Given the description of an element on the screen output the (x, y) to click on. 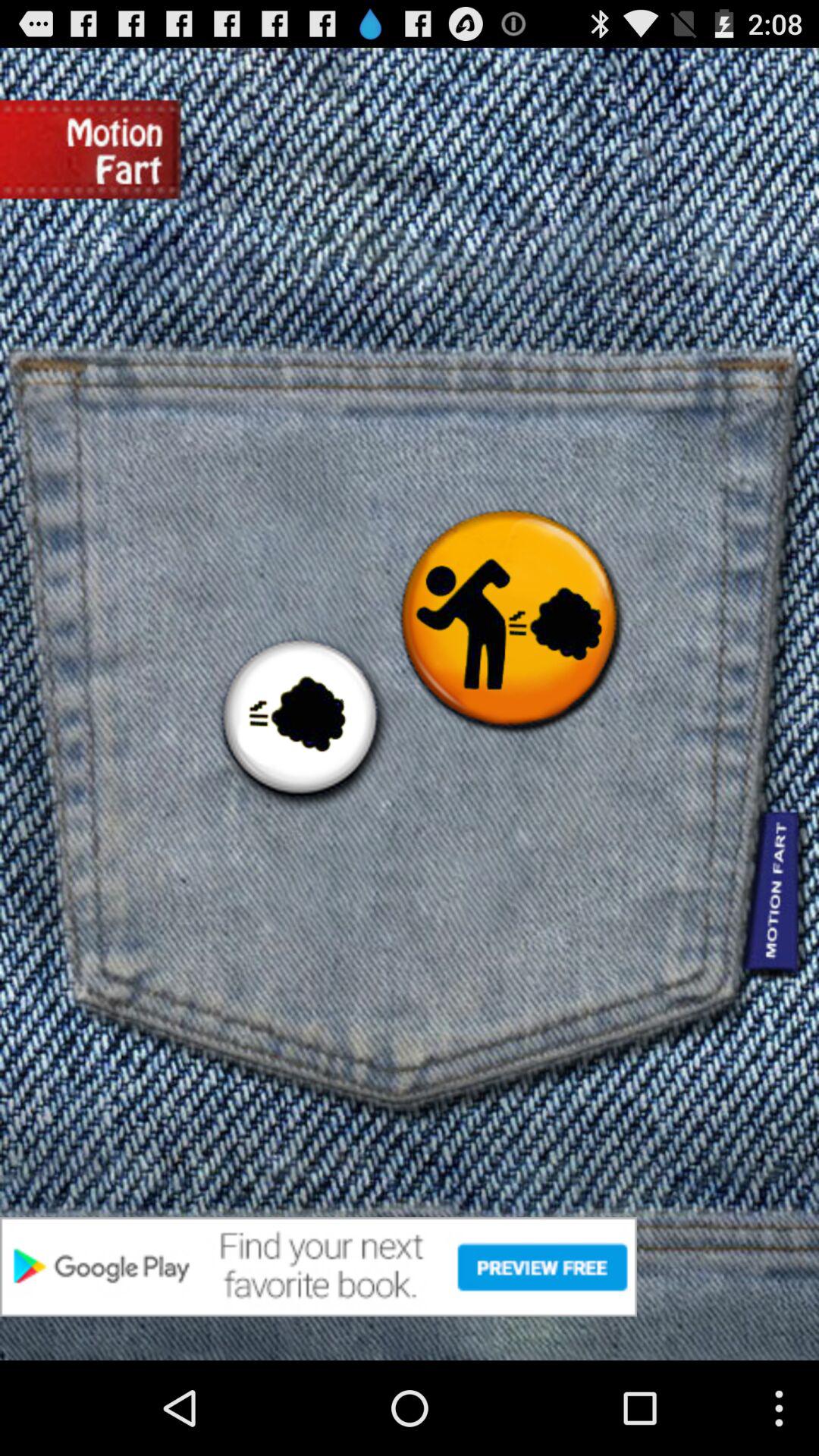
press to make fart sound (299, 719)
